Given the description of an element on the screen output the (x, y) to click on. 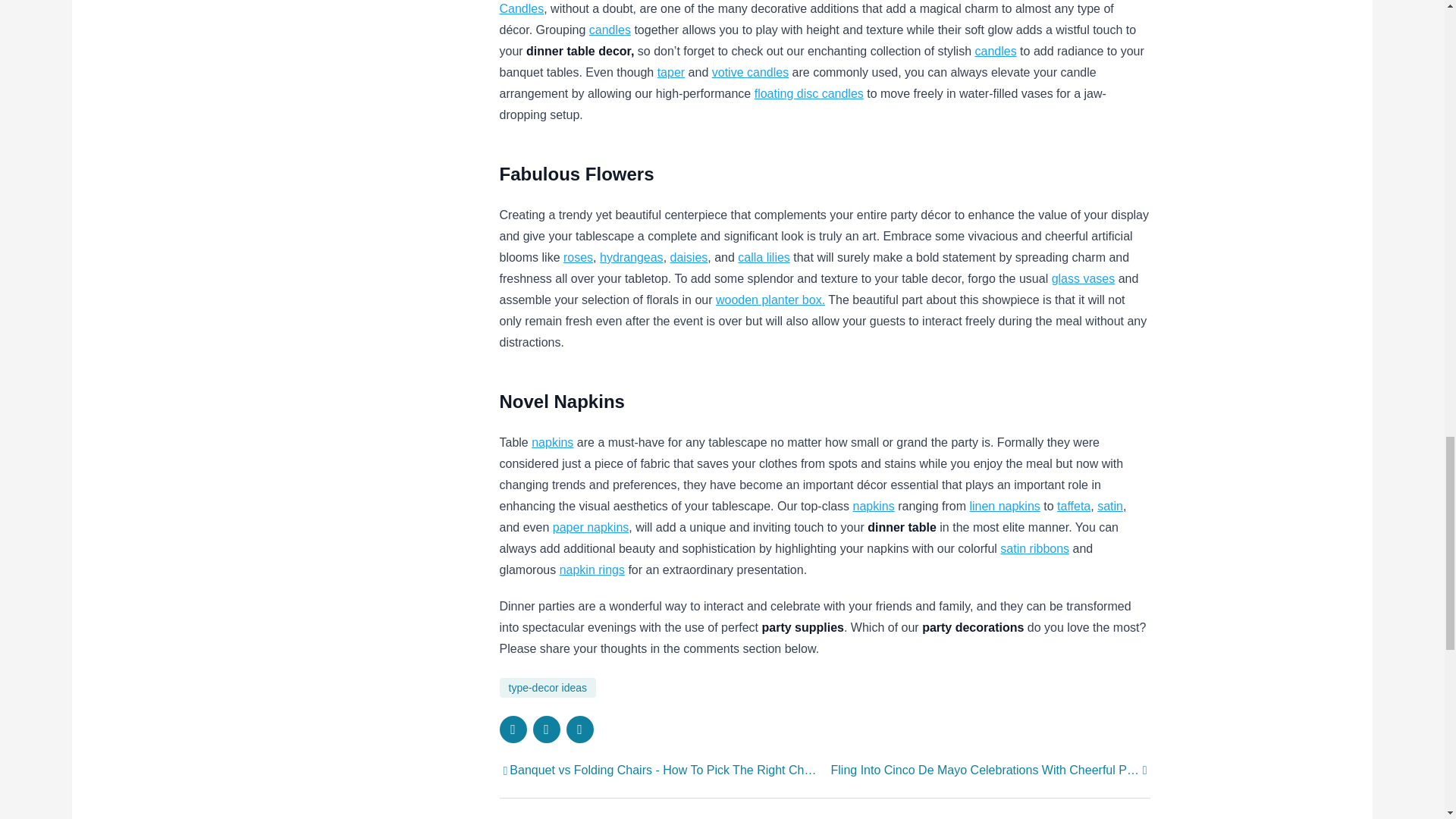
Share on Facebook (512, 728)
Tweet on Twitter (545, 728)
Pin on Pinterest (579, 728)
